Given the description of an element on the screen output the (x, y) to click on. 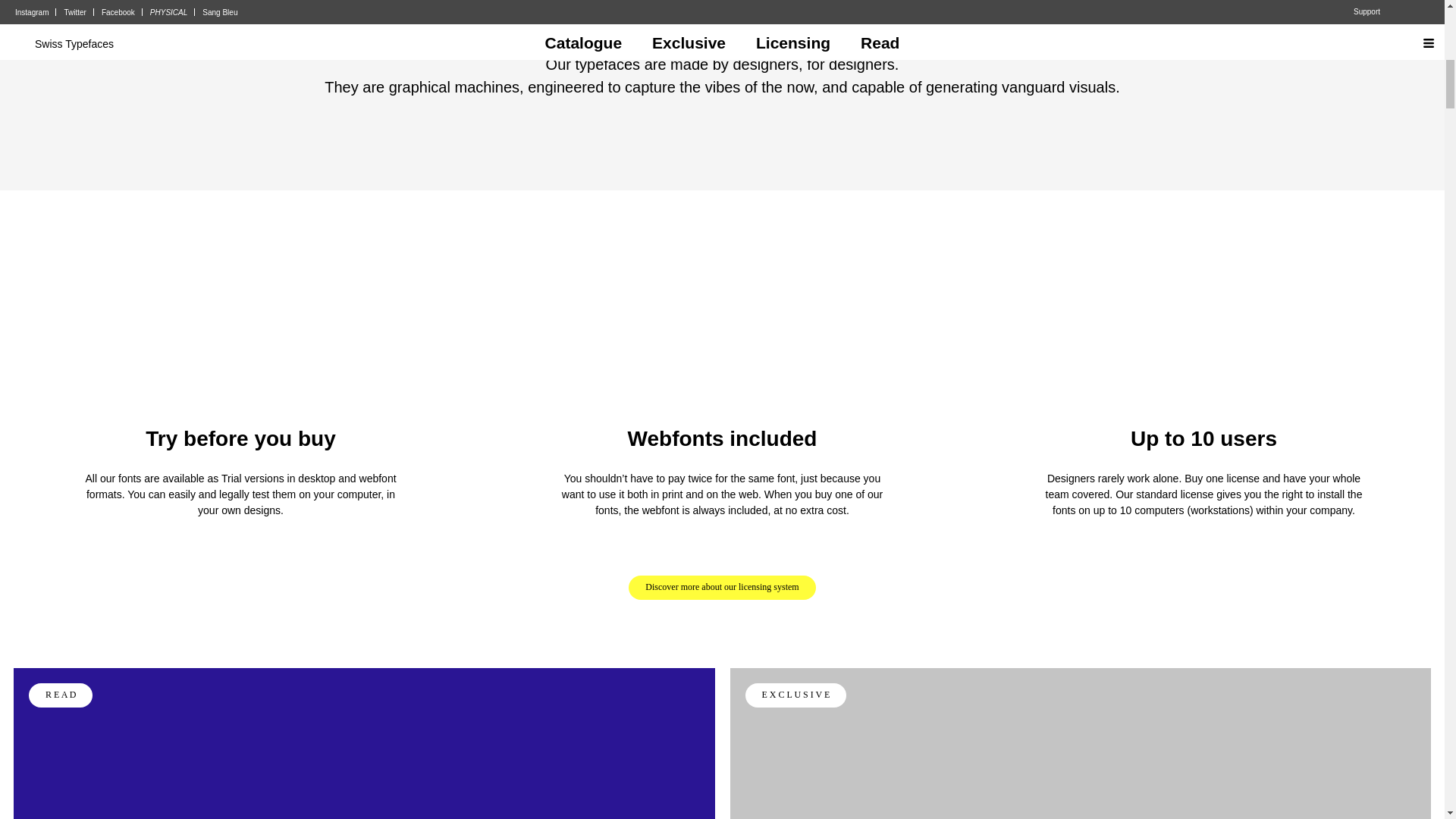
Up to 10 users (1203, 438)
Discover more about our licensing system (721, 587)
Webfonts included (721, 438)
Try before you buy (240, 438)
R E A D (363, 743)
E X C L U S I V E (1080, 743)
